Given the description of an element on the screen output the (x, y) to click on. 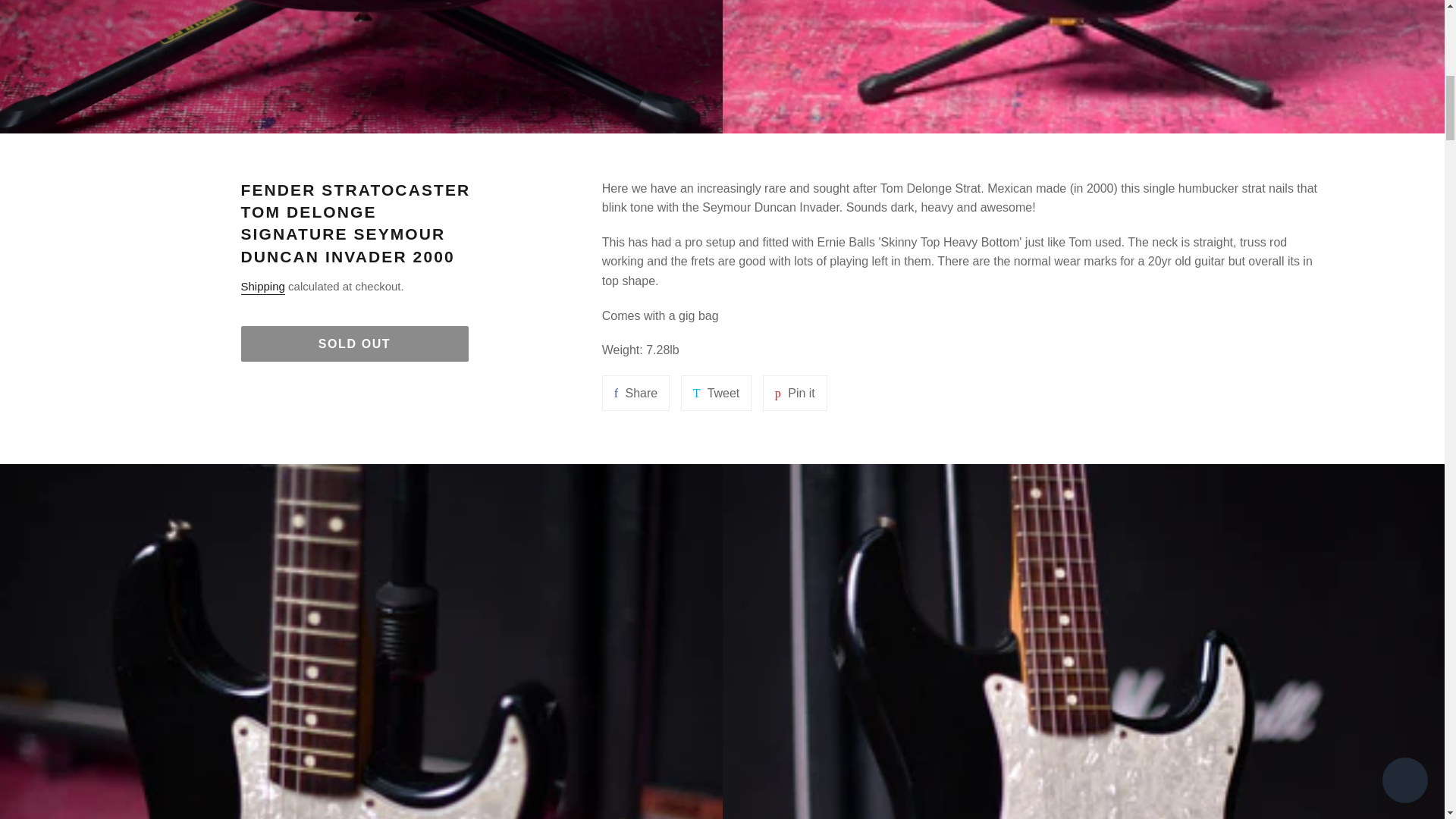
Pin on Pinterest (635, 393)
Tweet on Twitter (794, 393)
SOLD OUT (716, 393)
Share on Facebook (354, 343)
Shipping (794, 393)
